Given the description of an element on the screen output the (x, y) to click on. 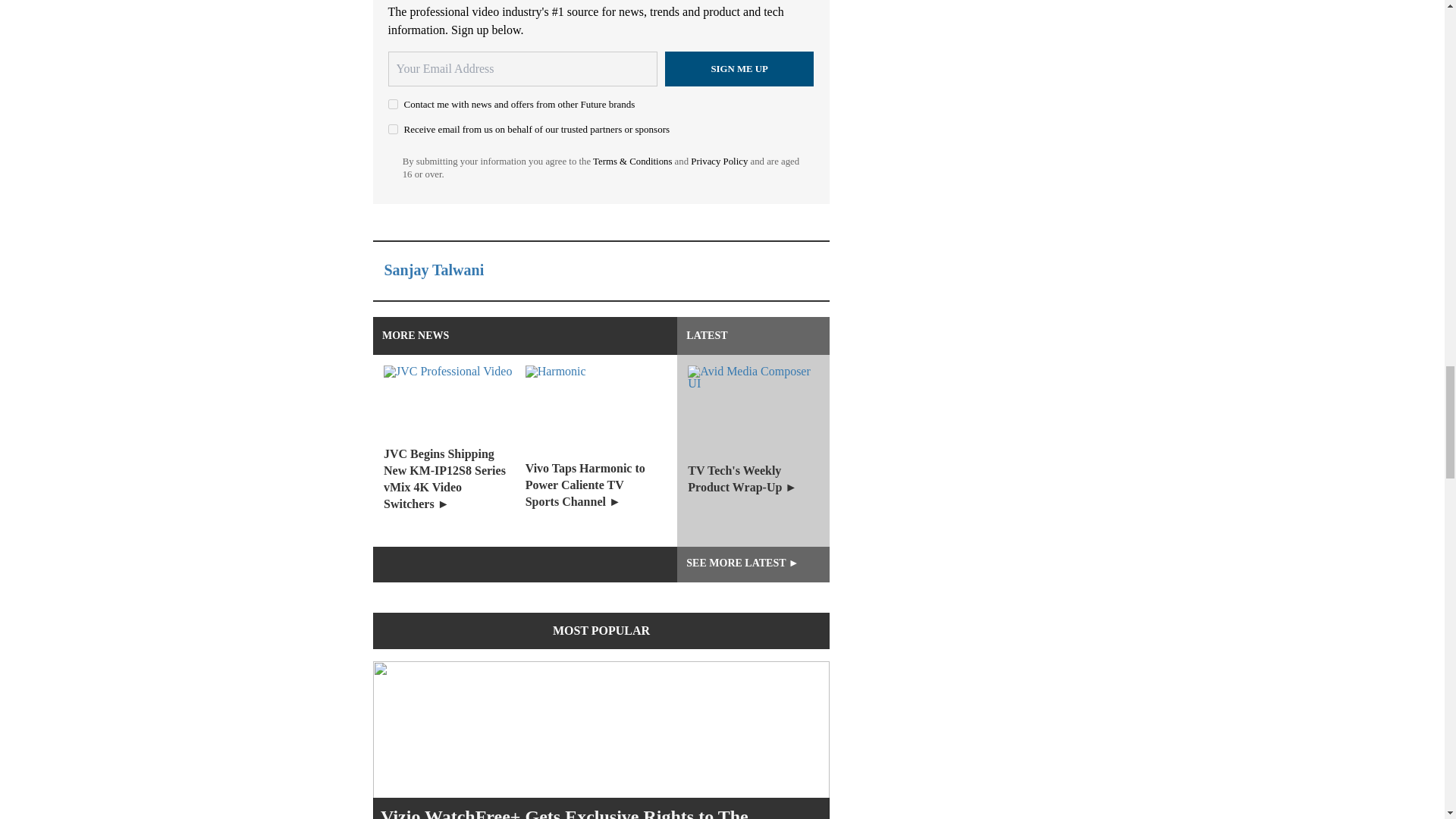
Sanjay Talwani (433, 269)
Sign me up (739, 68)
on (392, 129)
Sign me up (739, 68)
on (392, 103)
Privacy Policy (719, 161)
